Given the description of an element on the screen output the (x, y) to click on. 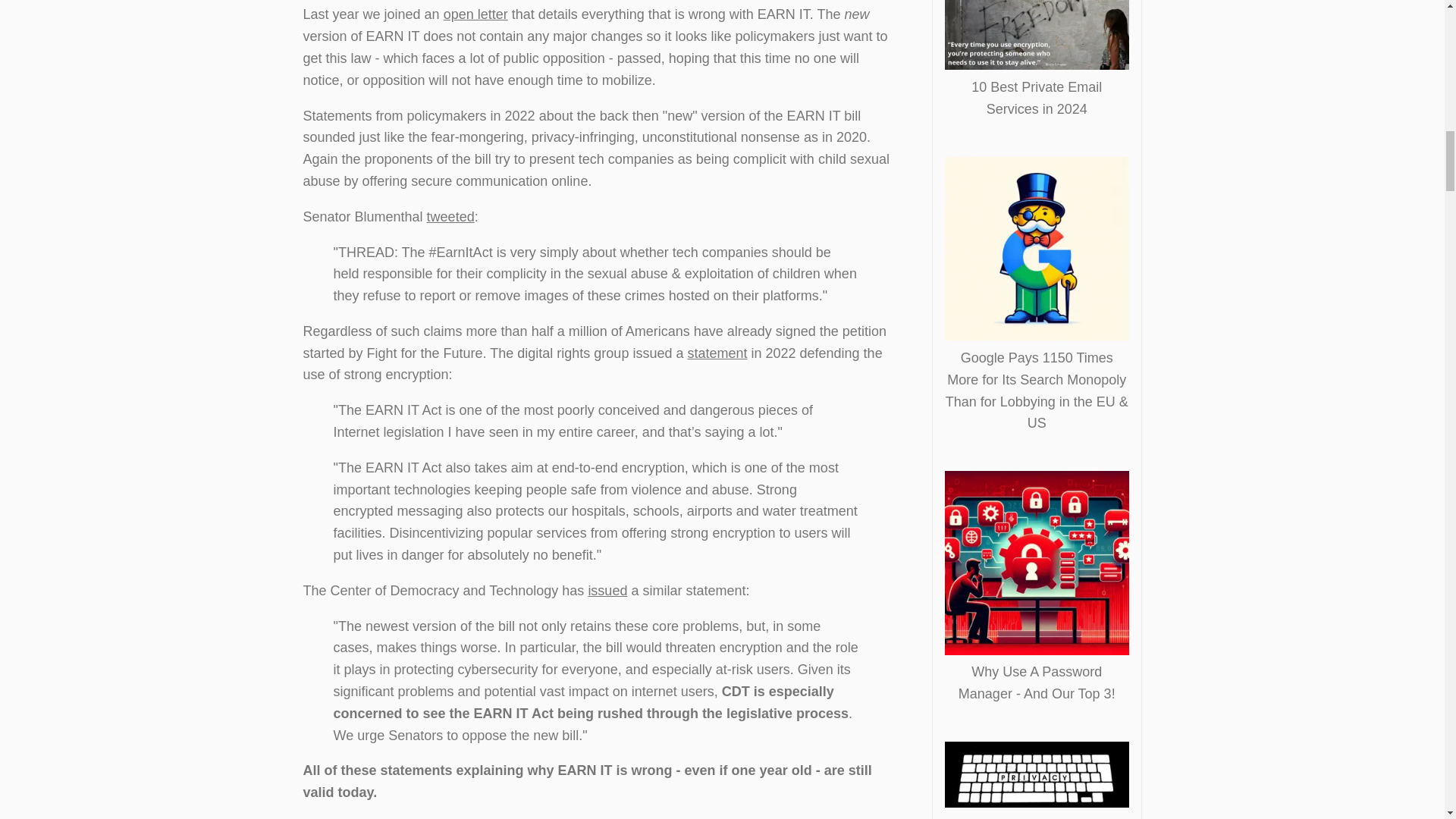
open letter (476, 14)
tweeted (450, 216)
issued (607, 590)
statement (716, 353)
